Given the description of an element on the screen output the (x, y) to click on. 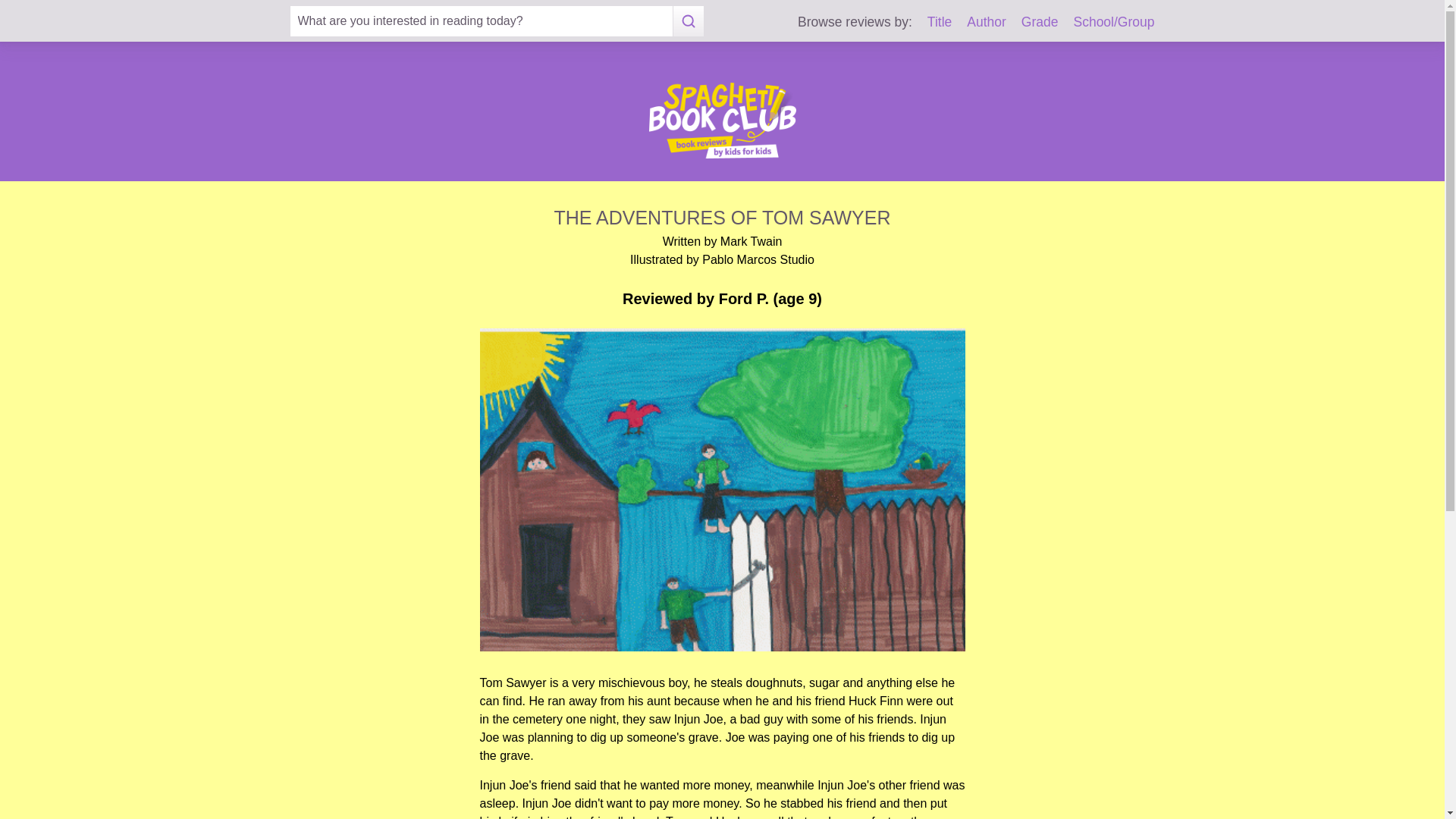
Author (986, 21)
Grade (1040, 21)
Title (939, 21)
